Given the description of an element on the screen output the (x, y) to click on. 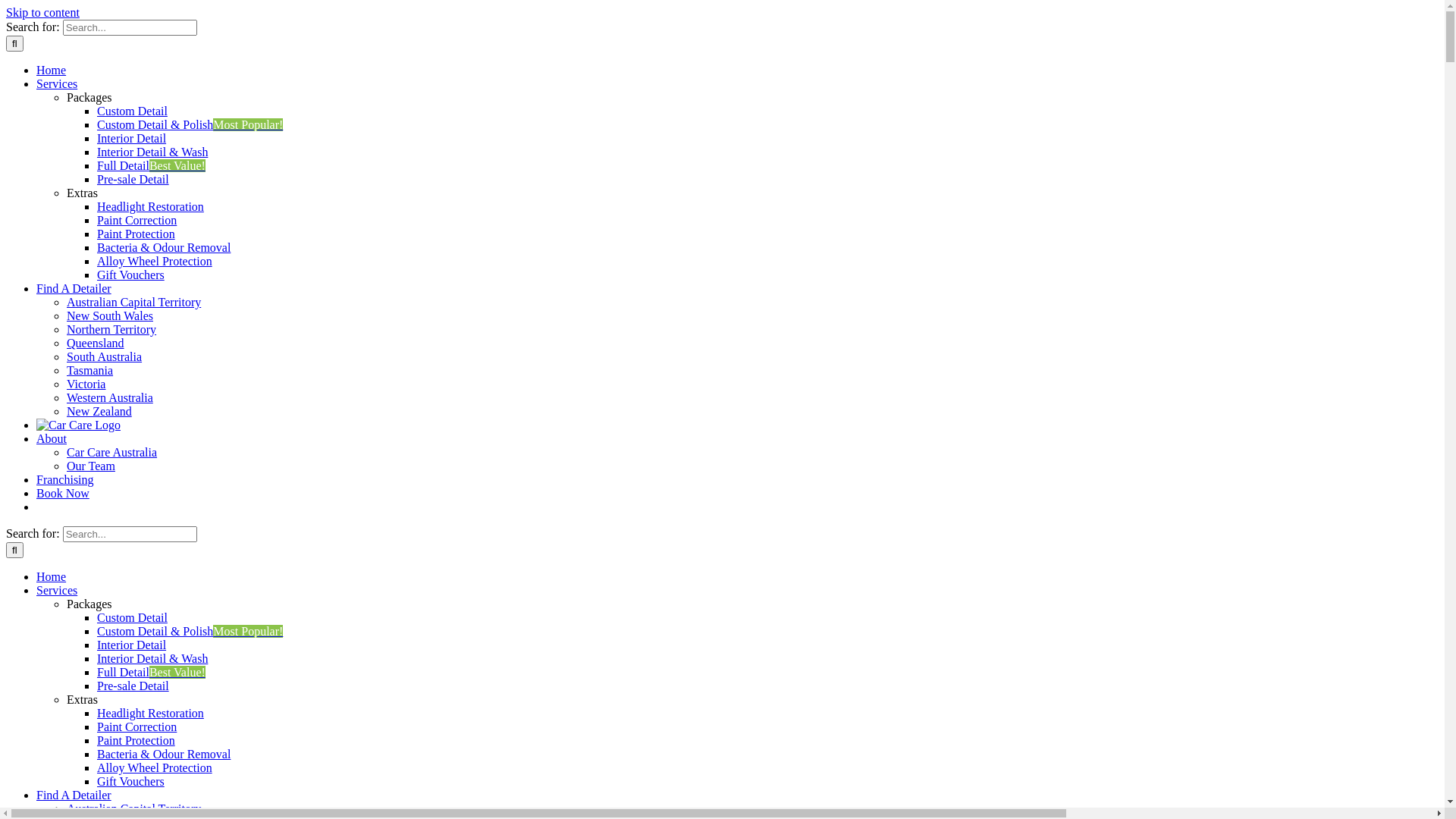
Car Care Australia Element type: text (111, 451)
Pre-sale Detail Element type: text (133, 178)
Full DetailBest Value! Element type: text (151, 671)
New South Wales Element type: text (109, 315)
Interior Detail Element type: text (131, 137)
Find A Detailer Element type: text (73, 794)
Alloy Wheel Protection Element type: text (154, 767)
Western Australia Element type: text (109, 397)
Find A Detailer Element type: text (73, 288)
Our Team Element type: text (90, 465)
Services Element type: text (56, 83)
Skip to content Element type: text (42, 12)
Alloy Wheel Protection Element type: text (154, 260)
South Australia Element type: text (103, 356)
Full DetailBest Value! Element type: text (151, 165)
Bacteria & Odour Removal Element type: text (163, 247)
Paint Protection Element type: text (136, 740)
Home Element type: text (50, 69)
Paint Protection Element type: text (136, 233)
Paint Correction Element type: text (136, 726)
Headlight Restoration Element type: text (150, 712)
About Element type: text (51, 438)
Gift Vouchers Element type: text (130, 781)
Custom Detail & PolishMost Popular! Element type: text (189, 124)
Bacteria & Odour Removal Element type: text (163, 753)
Queensland Element type: text (95, 342)
Custom Detail & PolishMost Popular! Element type: text (189, 630)
Northern Territory Element type: text (111, 329)
Headlight Restoration Element type: text (150, 206)
Paint Correction Element type: text (136, 219)
Franchising Element type: text (65, 479)
Pre-sale Detail Element type: text (133, 685)
Book Now Element type: text (62, 492)
Services Element type: text (56, 589)
Home Element type: text (50, 576)
Victoria Element type: text (85, 383)
Custom Detail Element type: text (132, 110)
Tasmania Element type: text (89, 370)
Interior Detail & Wash Element type: text (152, 658)
Gift Vouchers Element type: text (130, 274)
Interior Detail Element type: text (131, 644)
Interior Detail & Wash Element type: text (152, 151)
New Zealand Element type: text (98, 410)
Australian Capital Territory Element type: text (133, 301)
Australian Capital Territory Element type: text (133, 808)
Custom Detail Element type: text (132, 617)
